Given the description of an element on the screen output the (x, y) to click on. 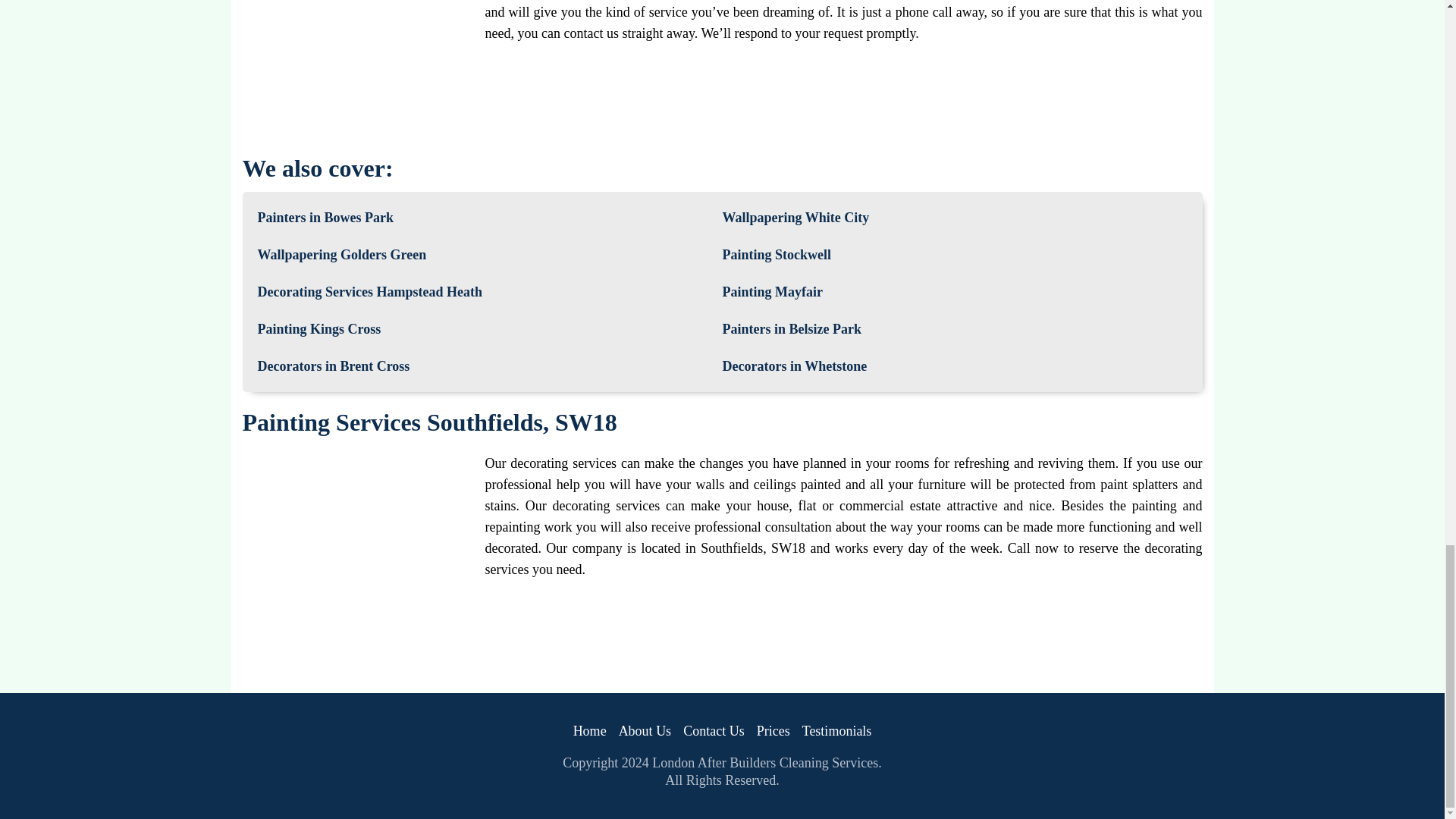
N22 Painters in Bowes Park (325, 218)
NW11 Wallpapering Golders Green (341, 255)
Wallpapering Golders Green (341, 255)
Decorators in Brent Cross (333, 366)
Decorators in Whetstone (794, 366)
Painting Kings Cross (319, 329)
NW3 Painters in Belsize Park (791, 329)
N20 Decorators in Whetstone (794, 366)
Painting Mayfair (772, 292)
Wallpapering White City (795, 218)
